Given the description of an element on the screen output the (x, y) to click on. 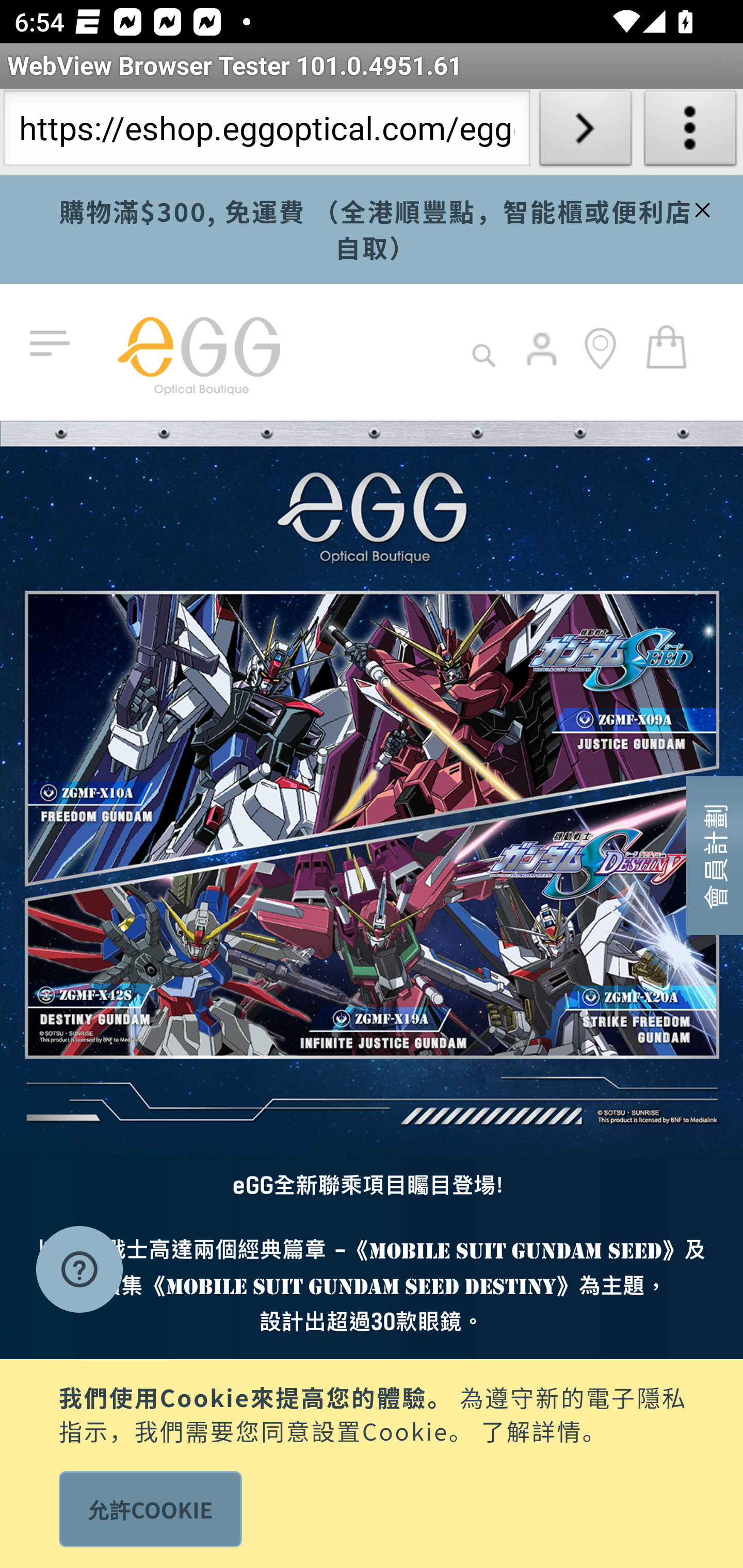
Load URL (585, 132)
About WebView (690, 132)
 (699, 206)
store logo eGG 網上商店 (198, 351)
切換導航 (54, 343)
我的購物車 (666, 345)
login (543, 362)
會員計劃 (714, 854)
Opens a widget where you can find more information (79, 1270)
了解詳情 (531, 1429)
允許COOKIE (149, 1509)
